Given the description of an element on the screen output the (x, y) to click on. 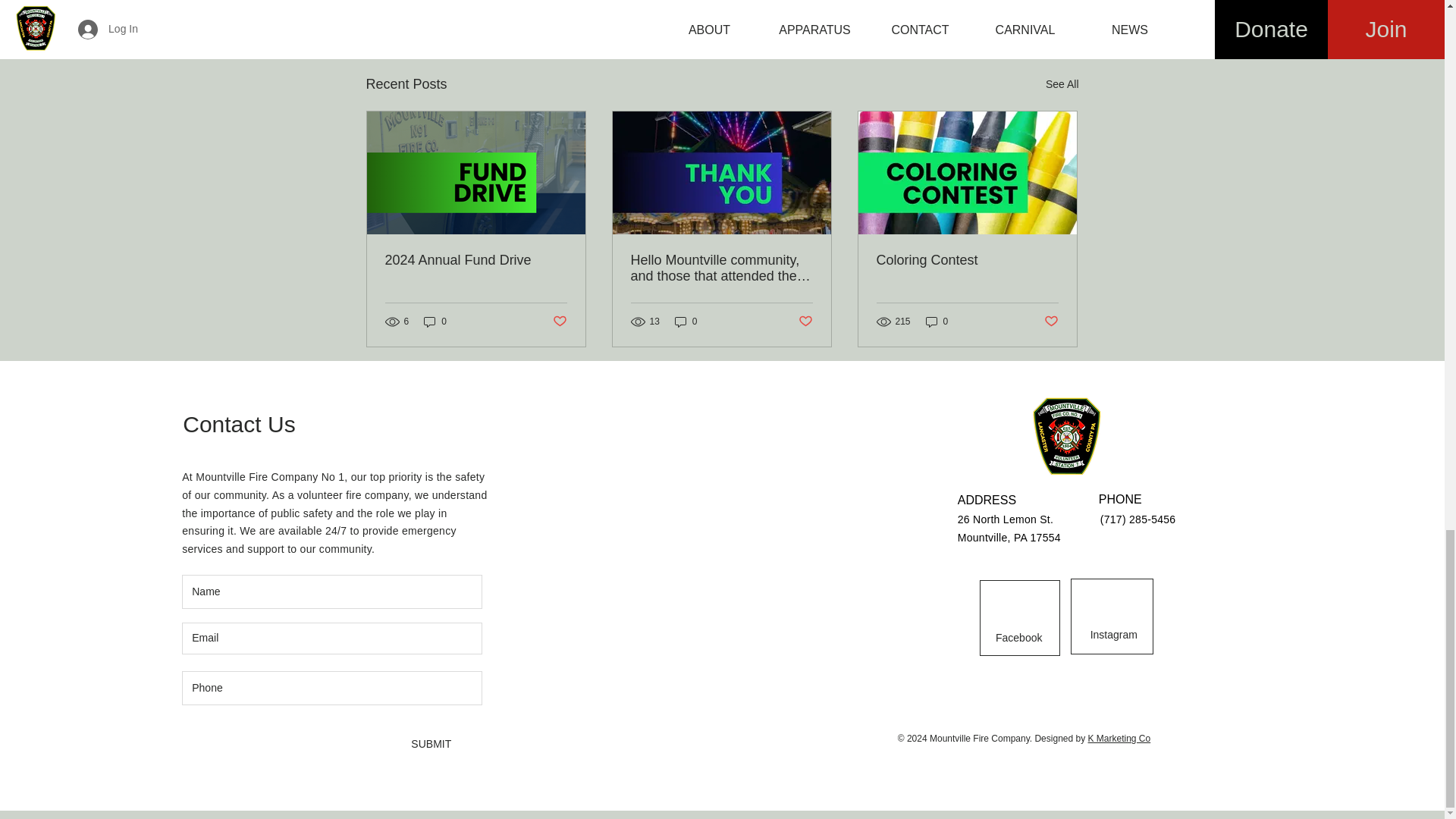
Post not marked as liked (558, 321)
0 (685, 320)
See All (1061, 84)
2024 Annual Fund Drive (476, 260)
Instagram (1113, 634)
0 (435, 320)
Post not marked as liked (1050, 321)
K Marketing Co (1118, 738)
0 (937, 320)
SUBMIT (417, 744)
Coloring Contest (967, 260)
Post not marked as liked (995, 4)
Facebook (1018, 638)
Post not marked as liked (804, 321)
